Given the description of an element on the screen output the (x, y) to click on. 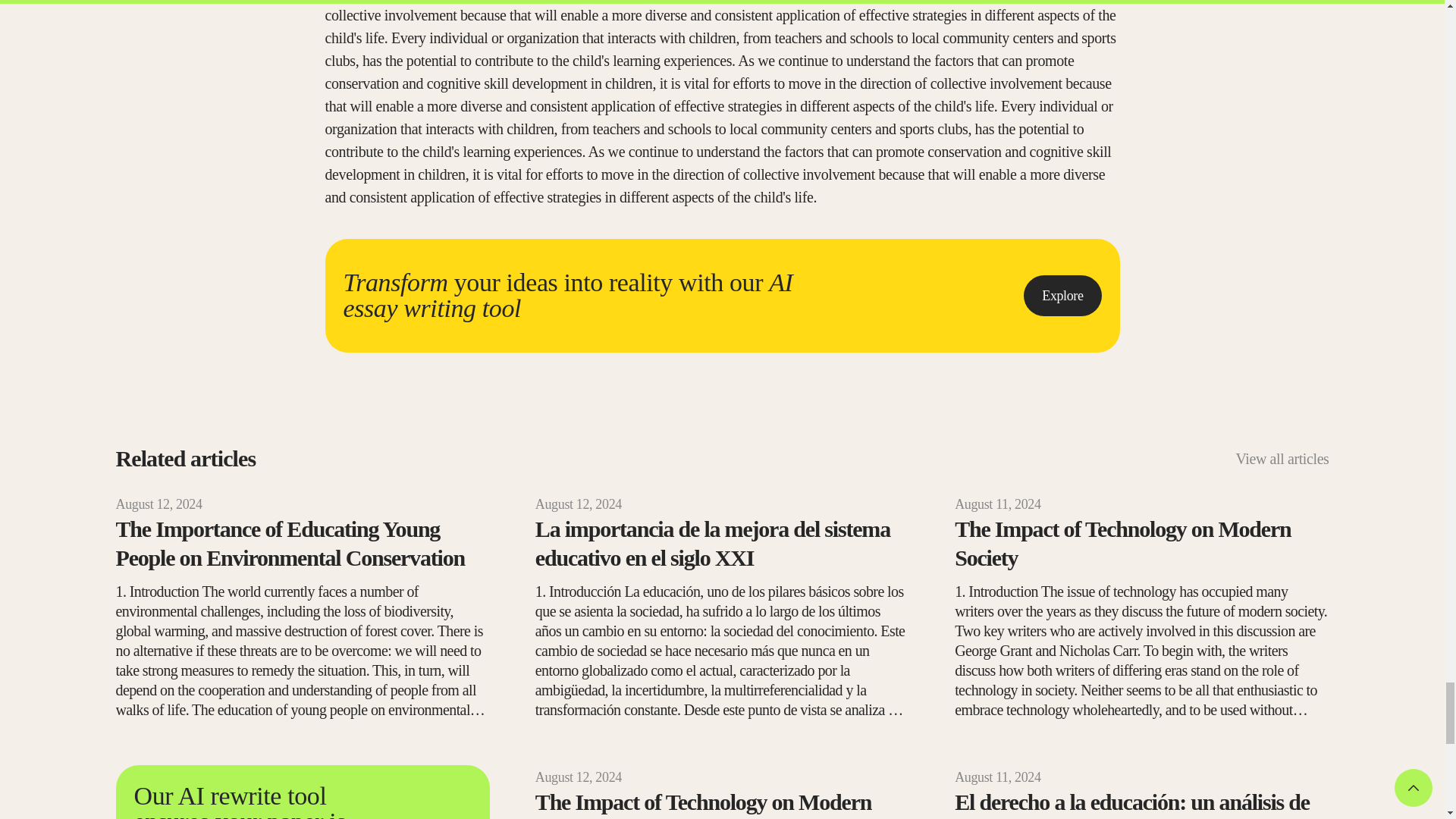
View all articles (1280, 458)
The Impact of Technology on Modern Society (1141, 543)
